Given the description of an element on the screen output the (x, y) to click on. 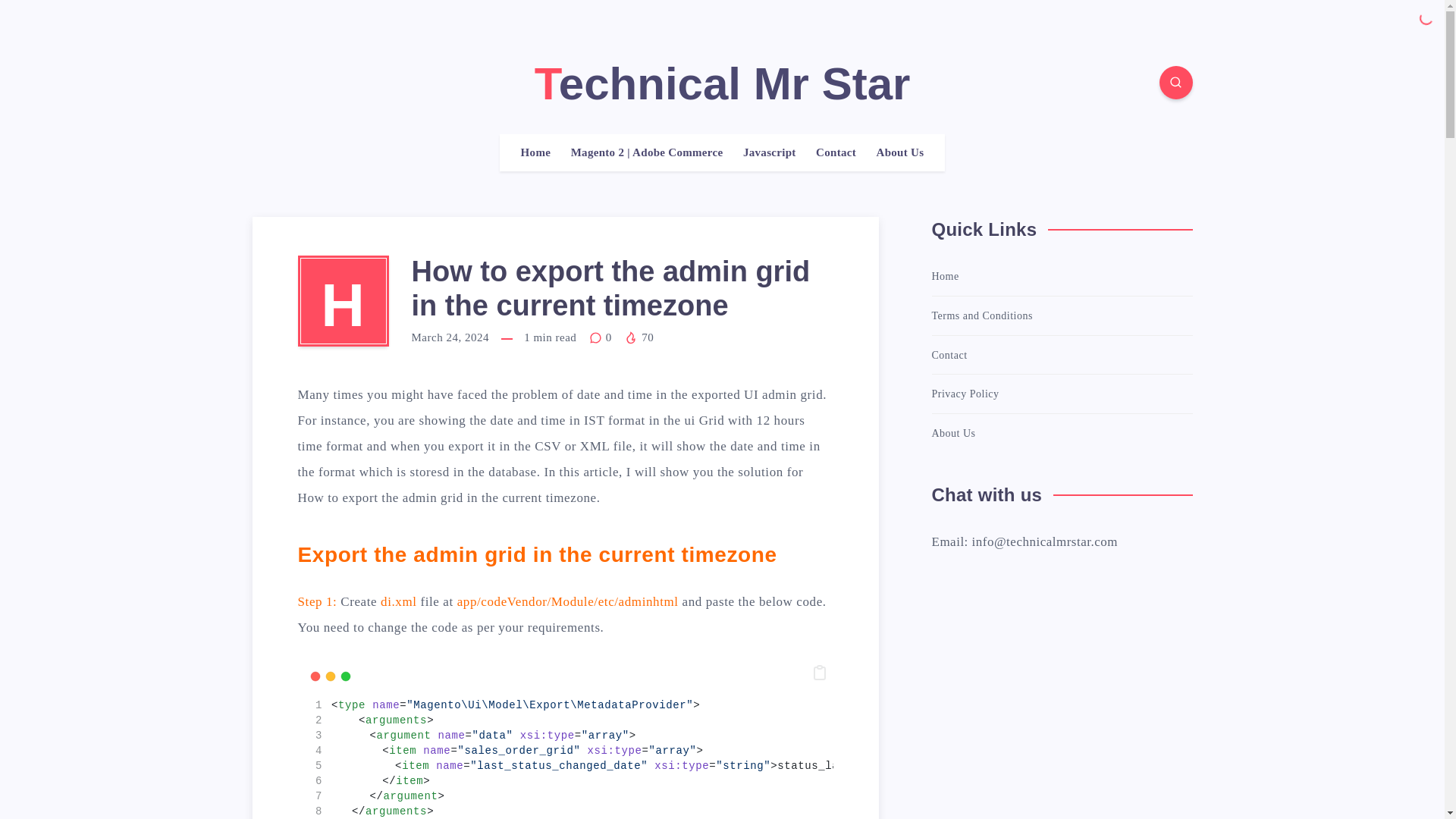
0 Comments (602, 337)
0 (602, 337)
70 Views (638, 337)
About Us (900, 152)
Contact (835, 152)
Javascript (769, 152)
Home (536, 152)
Technical Mr Star (722, 83)
